Given the description of an element on the screen output the (x, y) to click on. 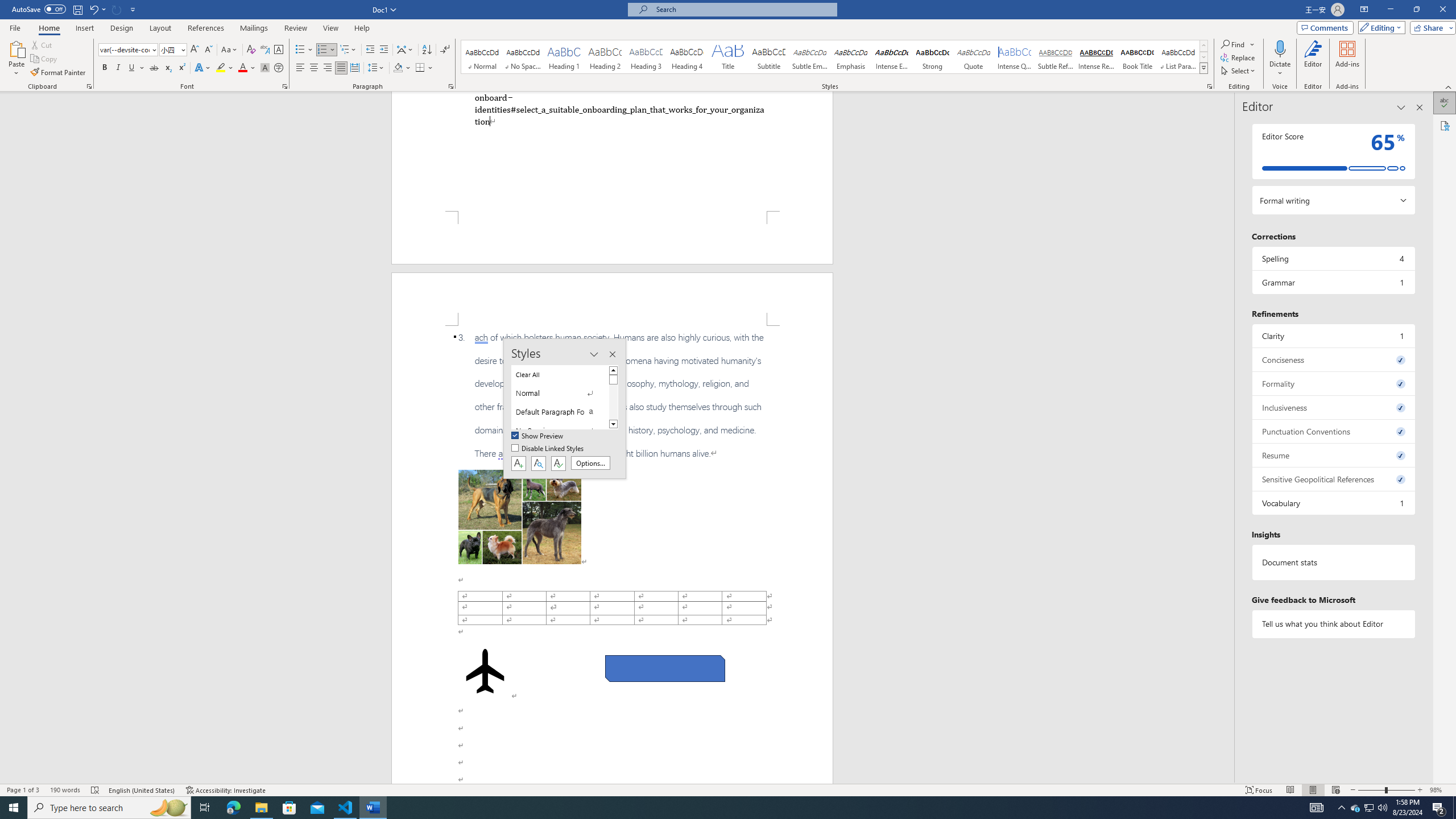
Font Size (169, 49)
Replace... (1237, 56)
Intense Emphasis (891, 56)
Disable Linked Styles (548, 448)
Font... (285, 85)
Character Shading (264, 67)
AutoSave (38, 9)
Superscript (180, 67)
Distributed (354, 67)
Accessibility Checker Accessibility: Investigate (226, 790)
Align Right (327, 67)
Show Preview (537, 436)
Airplane with solid fill (485, 670)
Vocabulary, 1 issue. Press space or enter to review items. (1333, 502)
Emphasis (849, 56)
